Given the description of an element on the screen output the (x, y) to click on. 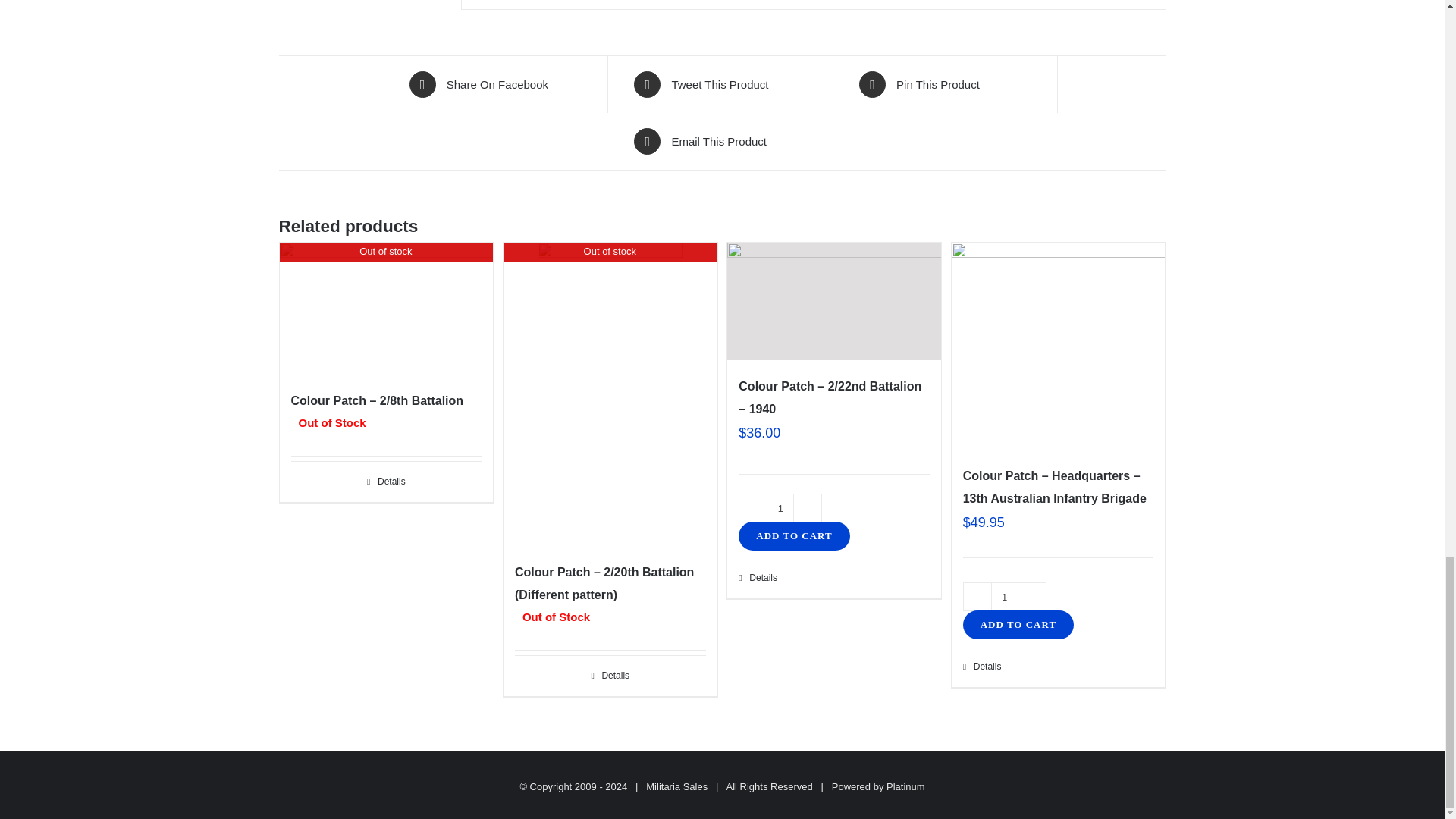
1 (780, 507)
1 (1004, 596)
